Given the description of an element on the screen output the (x, y) to click on. 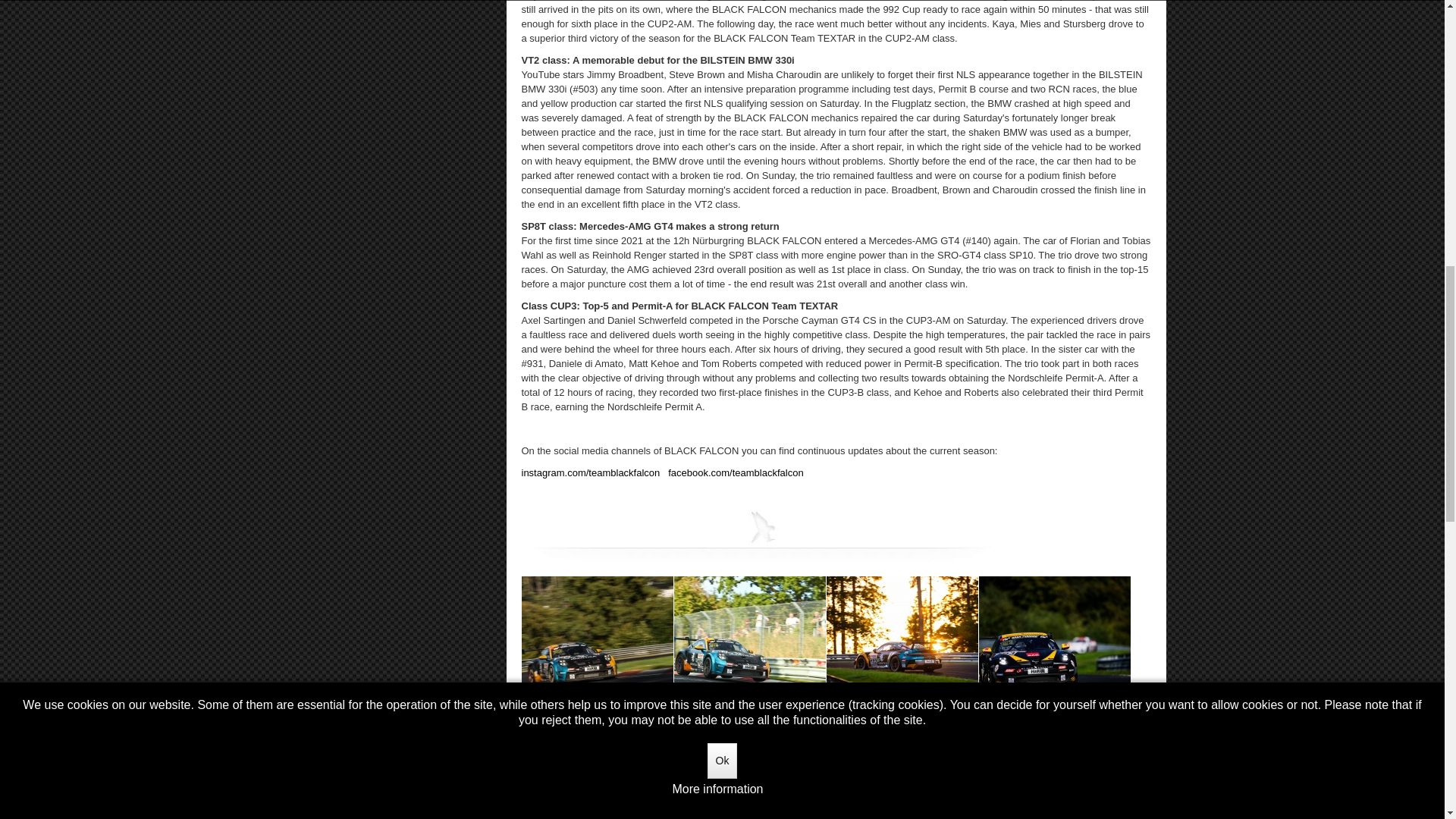
You are viewing the image with filename 2023-09-13-04.jpg (1053, 636)
You are viewing the image with filename 2023-09-13-06.jpg (748, 758)
You are viewing the image with filename 2023-09-13-01.jpg (596, 636)
You are viewing the image with filename 2023-09-13-05.jpg (596, 758)
You are viewing the image with filename 2023-09-13-03.jpg (902, 636)
You are viewing the image with filename 2023-09-13-02.jpg (748, 636)
